Given the description of an element on the screen output the (x, y) to click on. 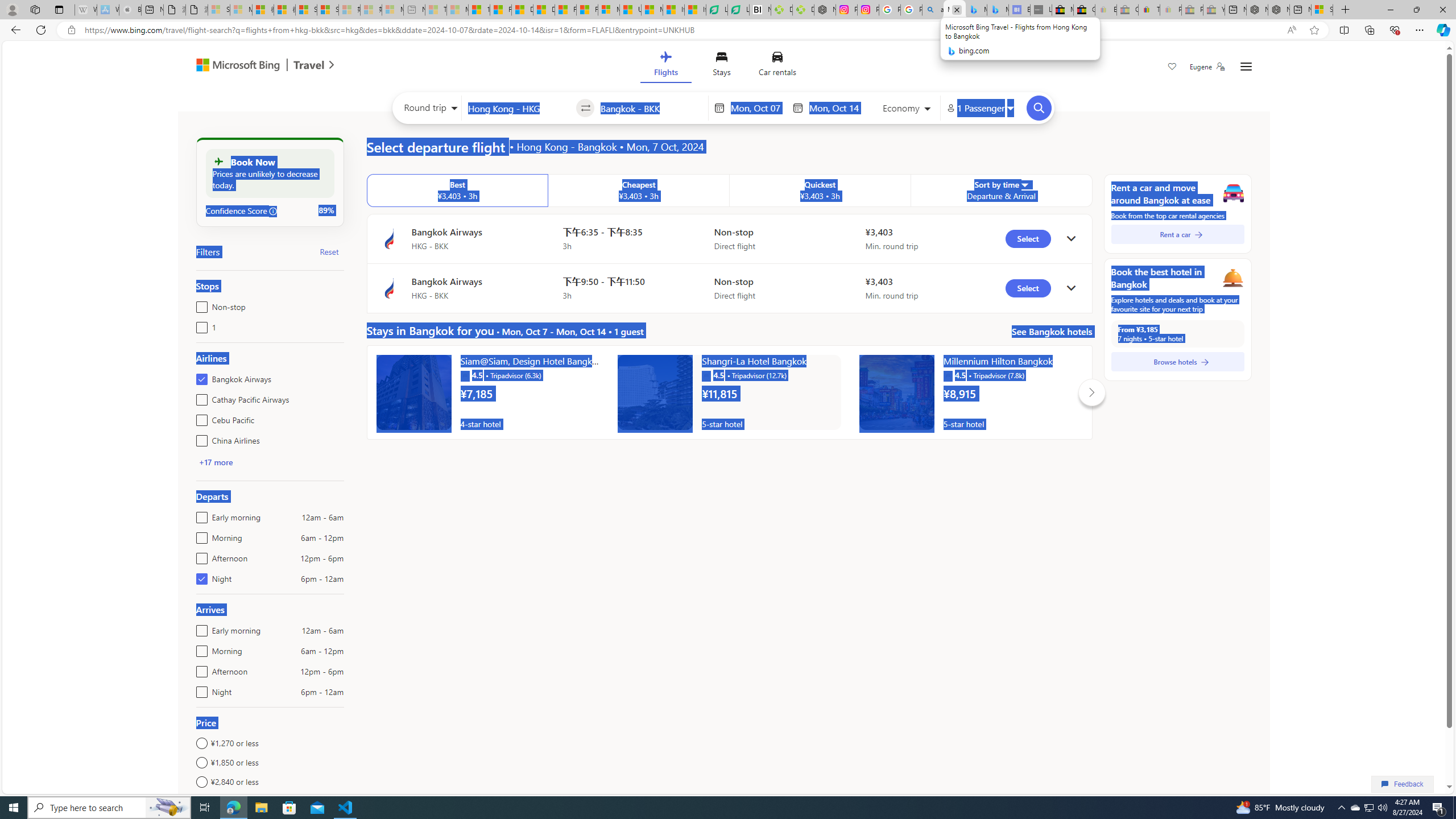
Non-stop (199, 304)
Select trip type (428, 110)
Cathay Pacific Airways (199, 397)
Car rentals (777, 65)
Top Stories - MSN - Sleeping (435, 9)
Sorter (1023, 184)
Stays (720, 65)
Microsoft Bing (232, 65)
